Given the description of an element on the screen output the (x, y) to click on. 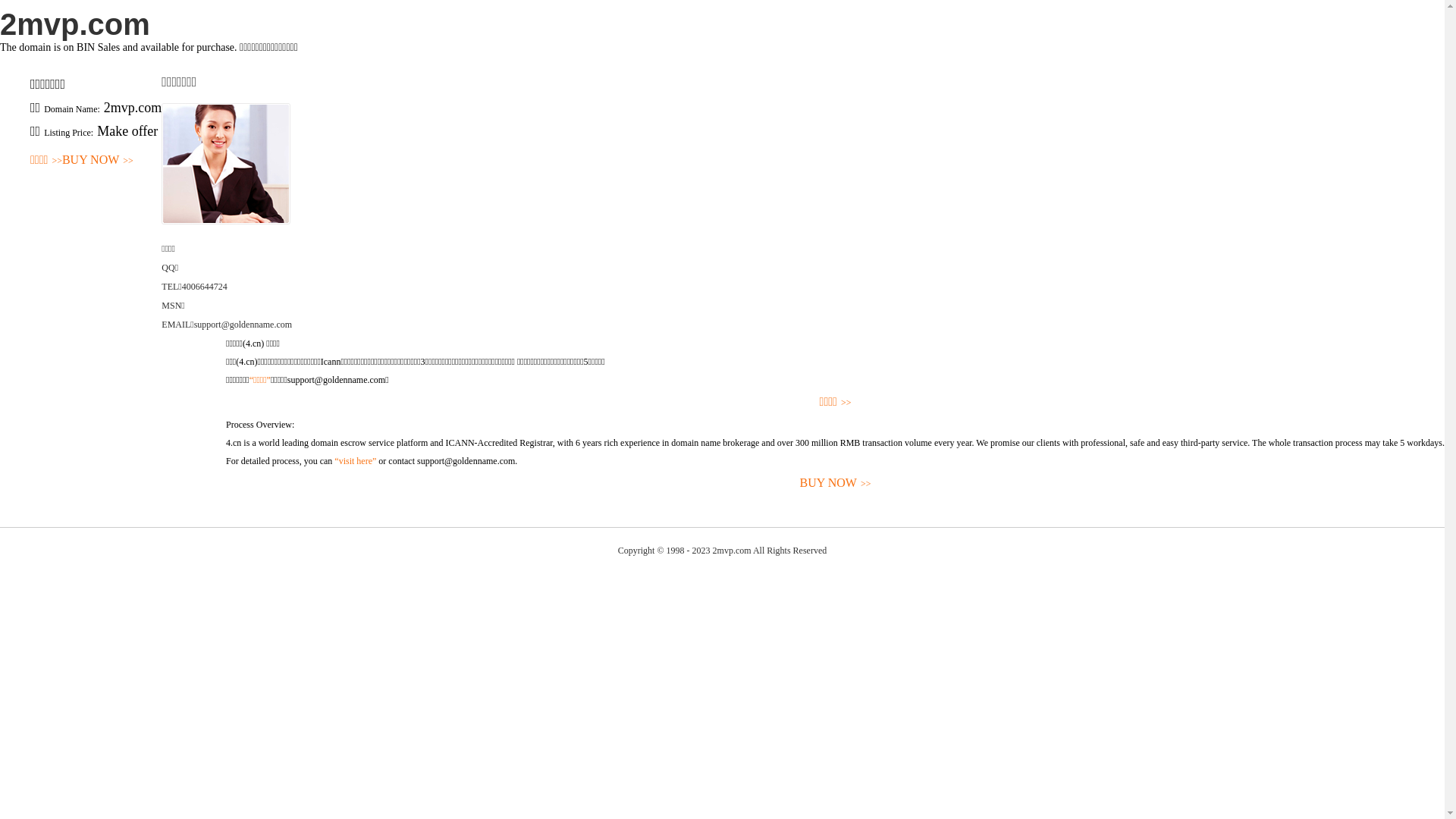
BUY NOW>> Element type: text (834, 483)
BUY NOW>> Element type: text (97, 160)
